Given the description of an element on the screen output the (x, y) to click on. 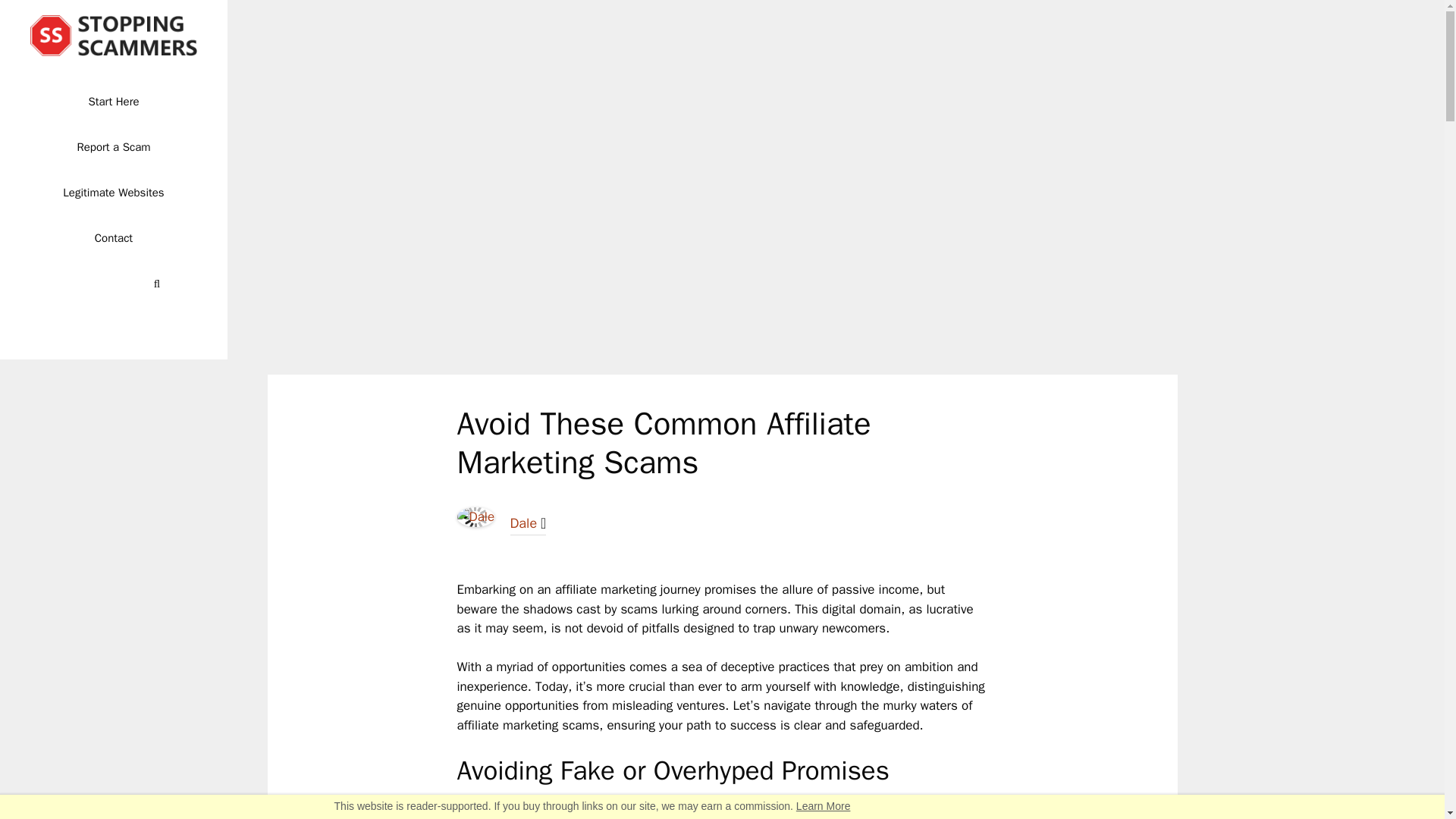
Dale (523, 523)
Report a Scam (113, 146)
Start Here (113, 101)
Contact (113, 238)
Legitimate Websites (113, 192)
Dale (476, 522)
